Given the description of an element on the screen output the (x, y) to click on. 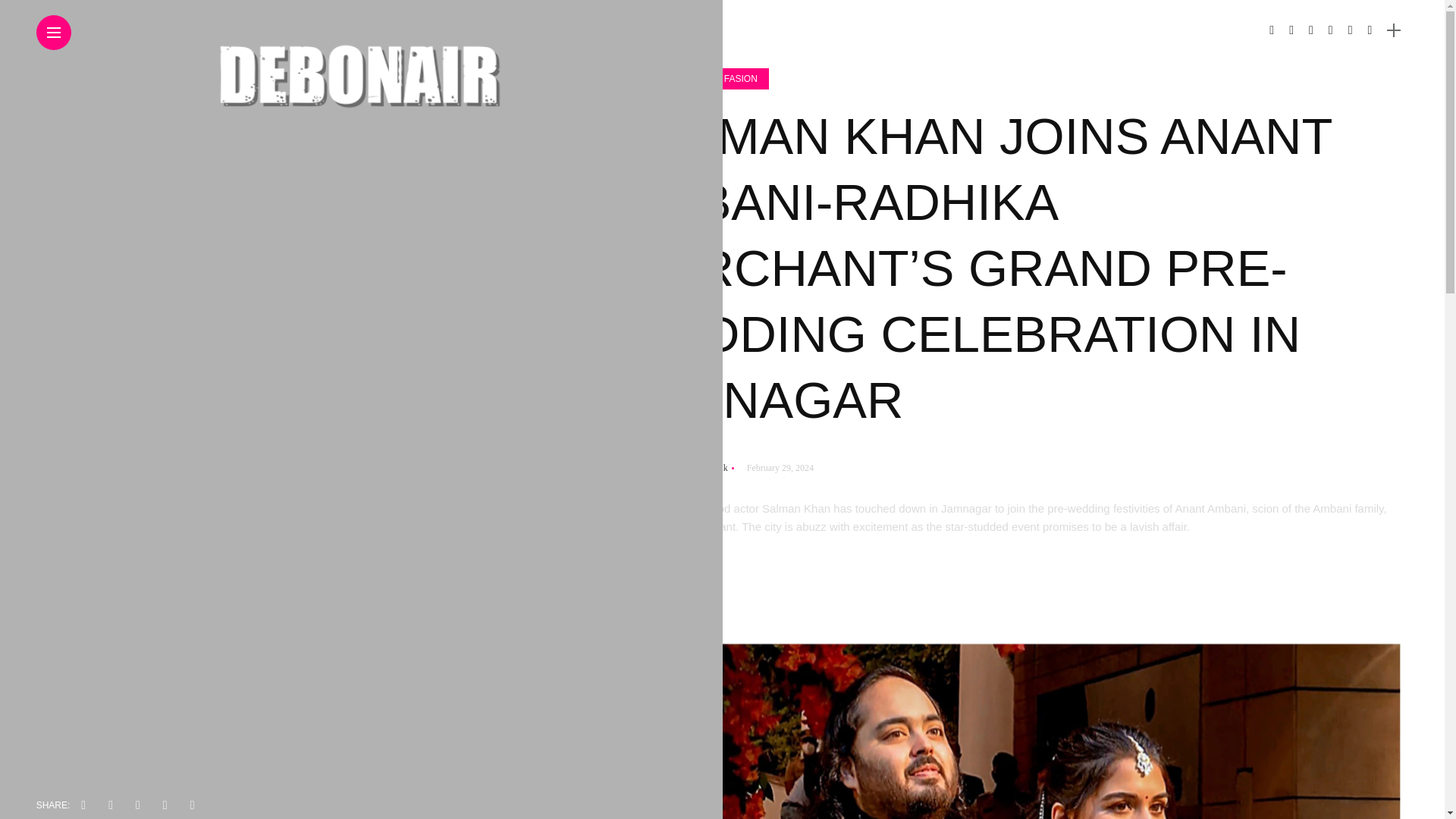
Posts by Editorial Desk (697, 467)
Editorial Desk (697, 467)
